Given the description of an element on the screen output the (x, y) to click on. 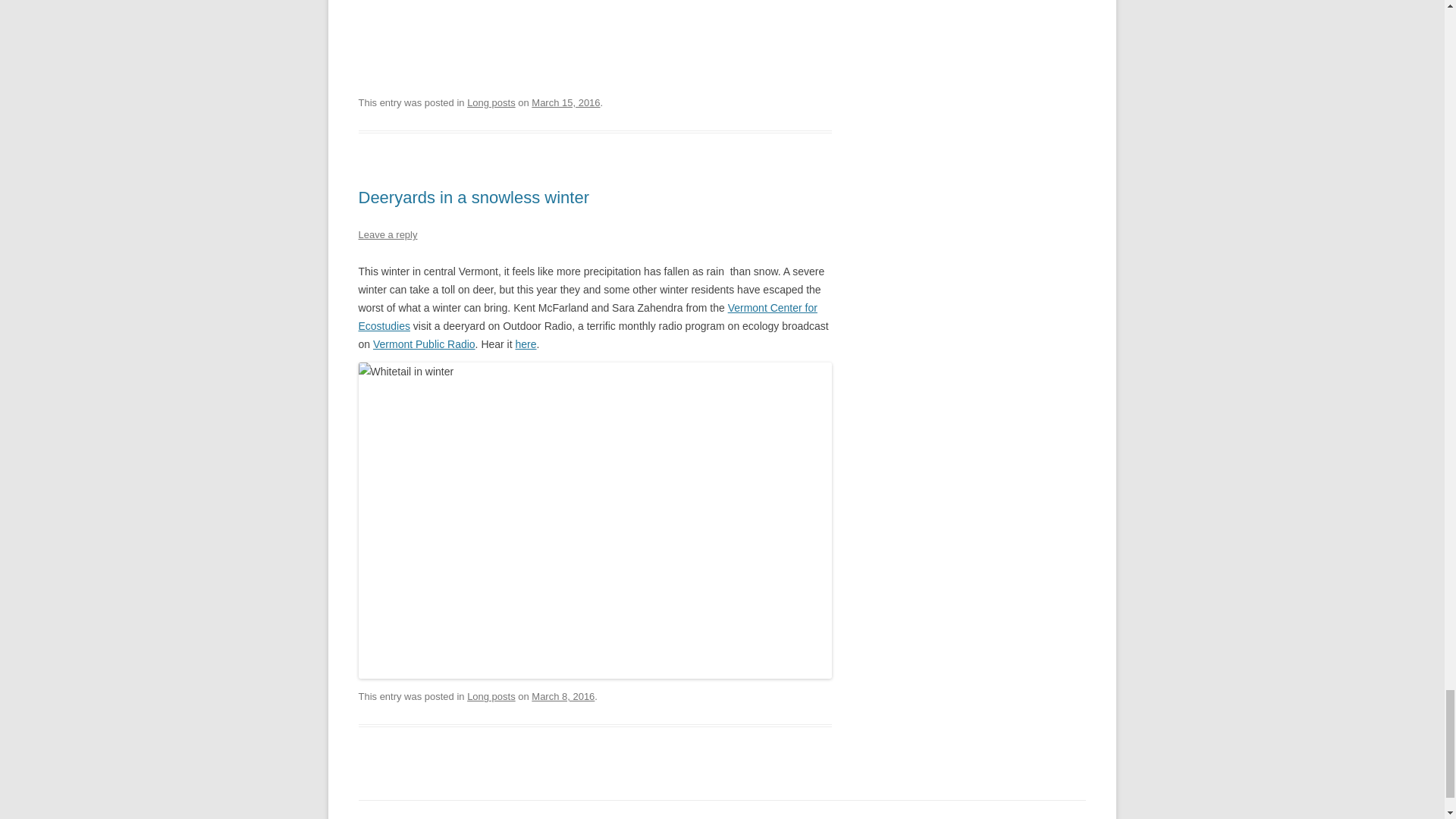
9:19 am (565, 102)
9:02 am (562, 696)
Long posts (491, 102)
March 15, 2016 (565, 102)
